Given the description of an element on the screen output the (x, y) to click on. 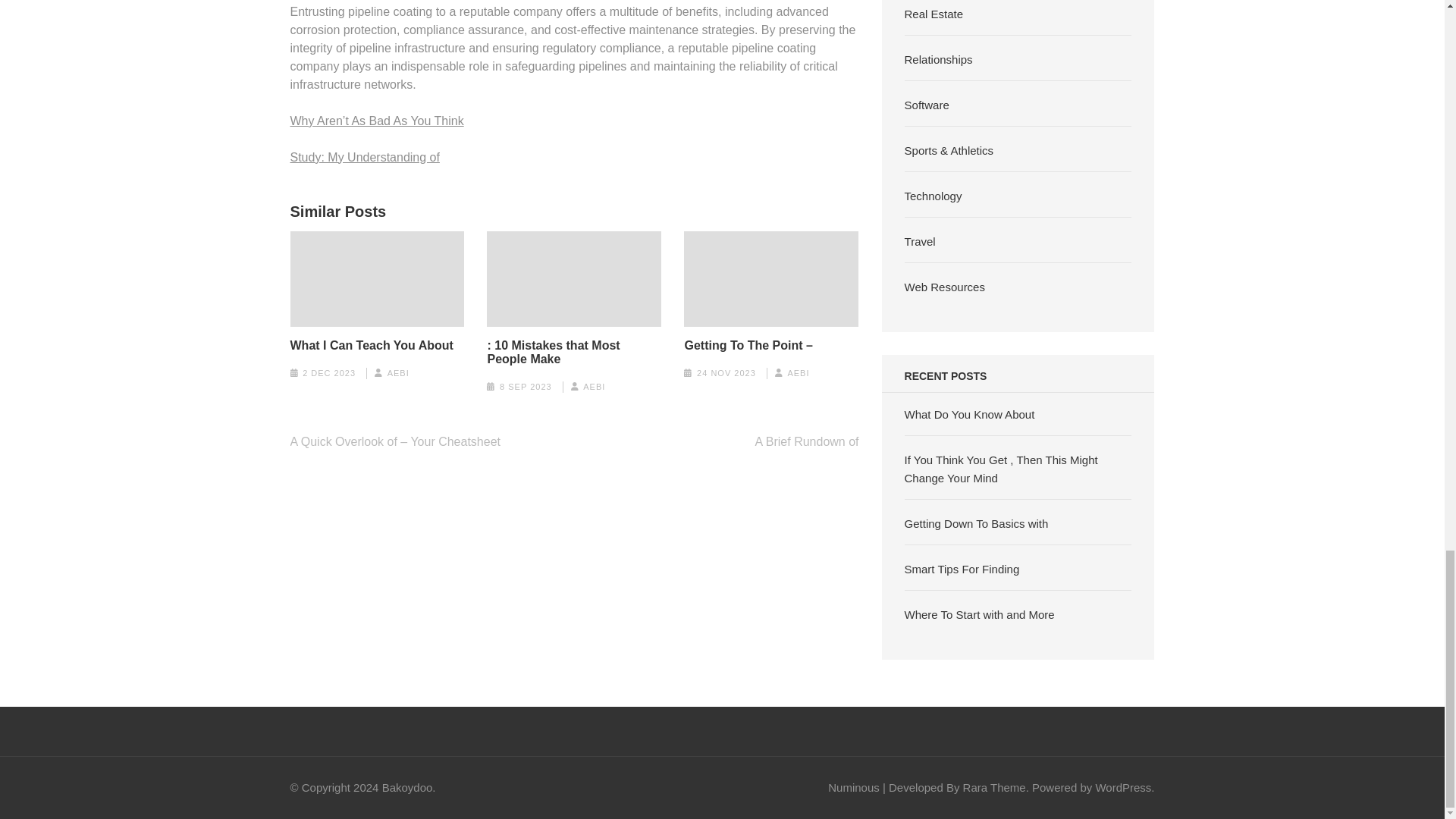
2 DEC 2023 (328, 372)
: 10 Mistakes that Most People Make (573, 352)
8 SEP 2023 (525, 386)
AEBI (594, 386)
Study: My Understanding of (364, 155)
AEBI (398, 372)
What I Can Teach You About (370, 345)
24 NOV 2023 (726, 372)
AEBI (798, 372)
A Brief Rundown of (807, 440)
